Given the description of an element on the screen output the (x, y) to click on. 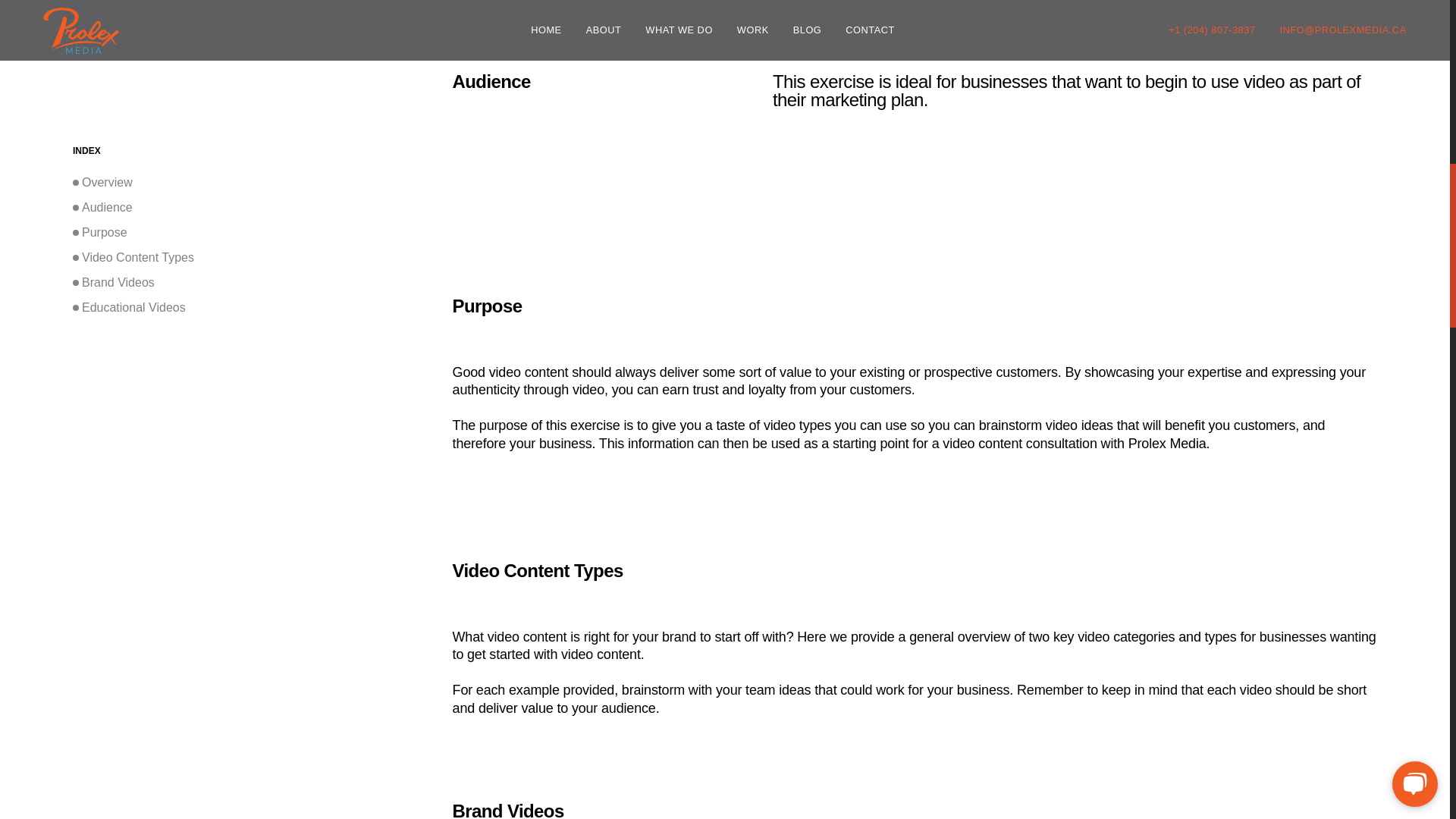
Overview (250, 109)
Purpose (250, 159)
Educational Videos (250, 235)
Overview (250, 109)
Brand Videos (250, 209)
Audience (250, 135)
Video Content Types (250, 185)
